Given the description of an element on the screen output the (x, y) to click on. 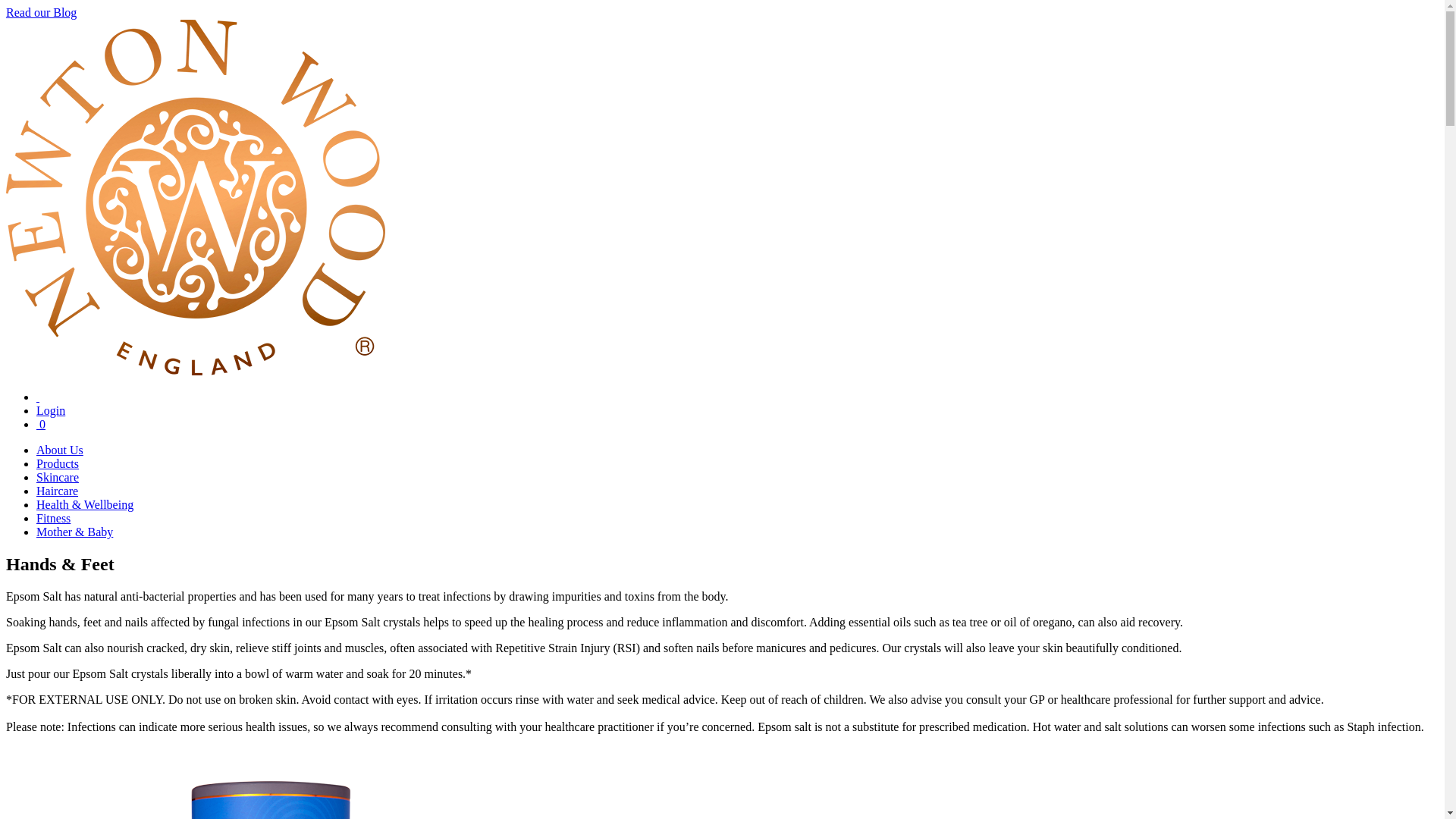
Login (50, 410)
About Us (59, 449)
Read our Blog (41, 11)
Skincare (57, 477)
Haircare (57, 490)
Fitness (52, 517)
Products (57, 463)
